Given the description of an element on the screen output the (x, y) to click on. 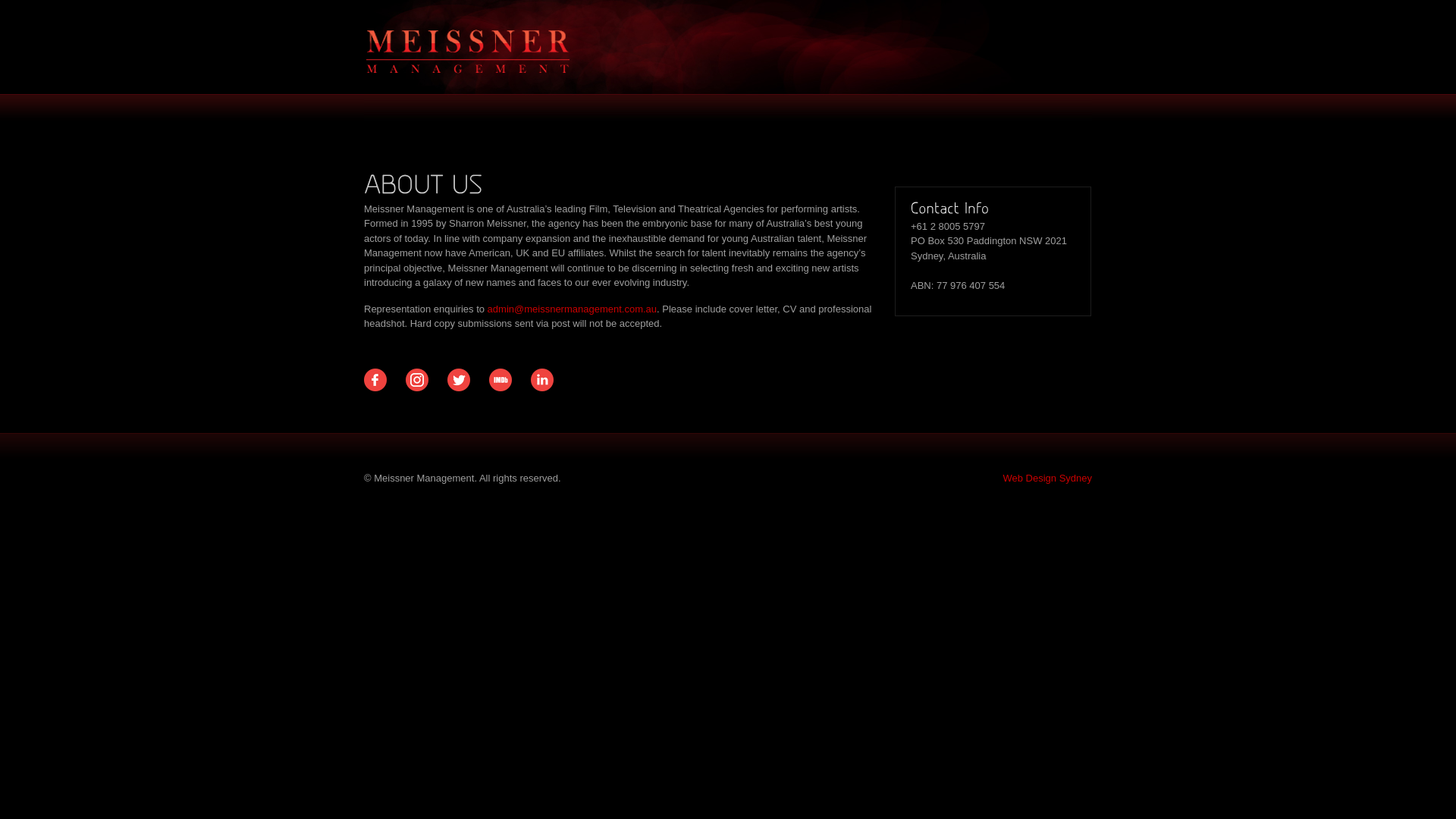
admin@meissnermanagement.com.au Element type: text (571, 308)
Web Design Sydney Element type: text (1047, 477)
